Given the description of an element on the screen output the (x, y) to click on. 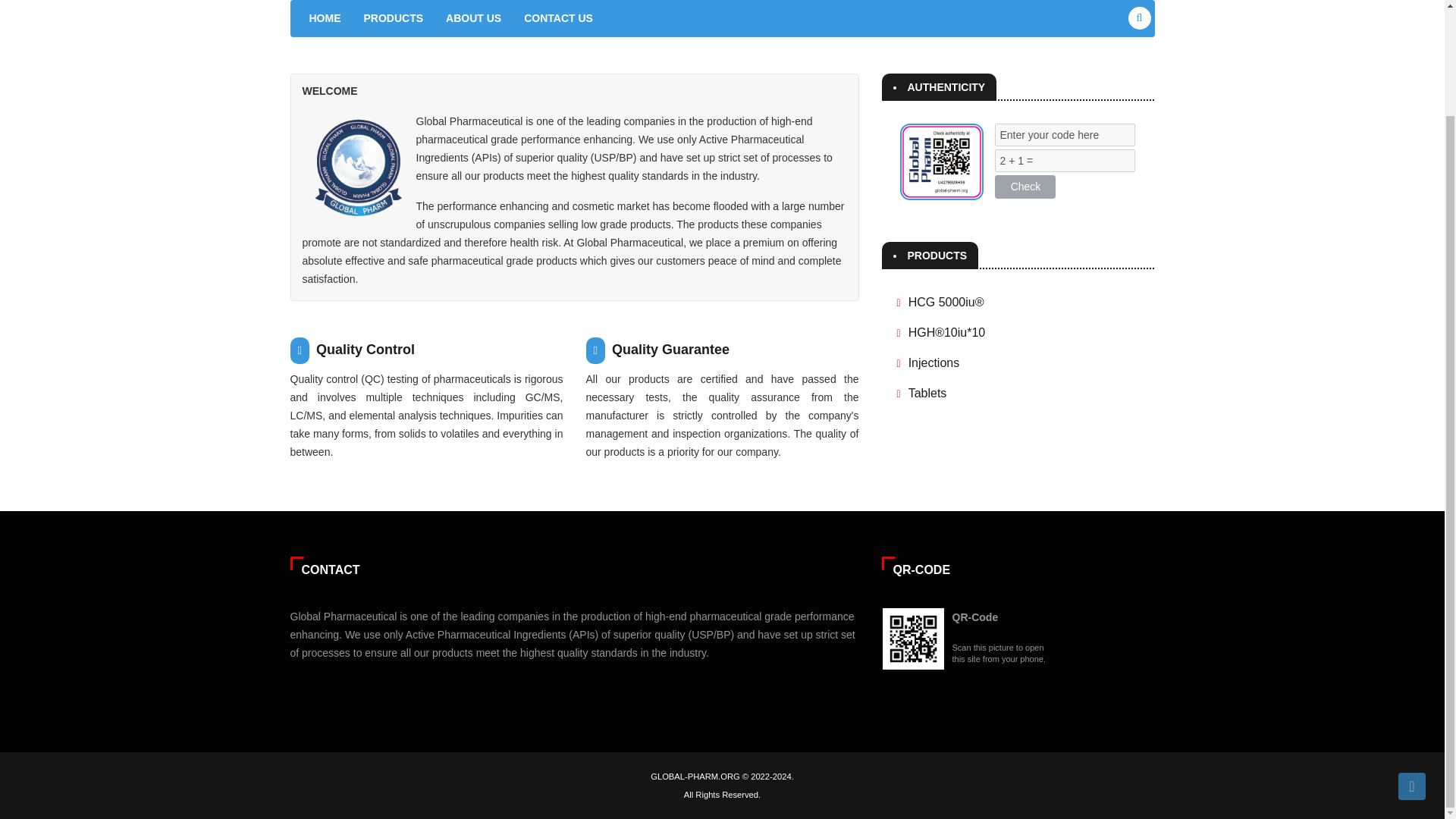
ABOUT US (472, 18)
PRODUCTS (392, 18)
Tablets (927, 391)
GLOBAL-PHARM.ORG (694, 776)
Back to Top (1411, 662)
Injections (933, 361)
Enter your code here (1064, 134)
Check (1024, 187)
HOME (324, 18)
CONTACT US (558, 18)
